Given the description of an element on the screen output the (x, y) to click on. 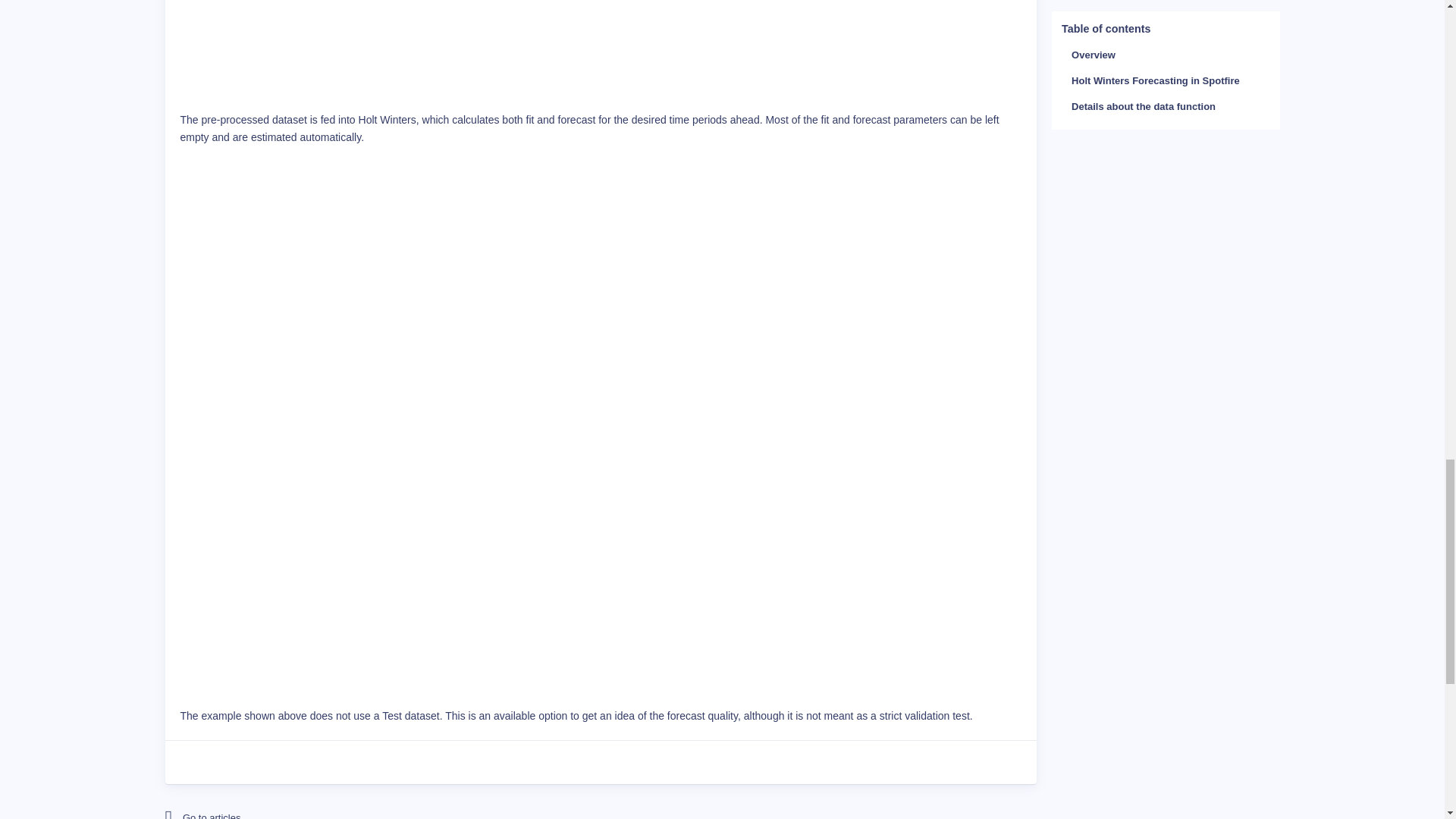
Go to Spotfire (297, 809)
